Given the description of an element on the screen output the (x, y) to click on. 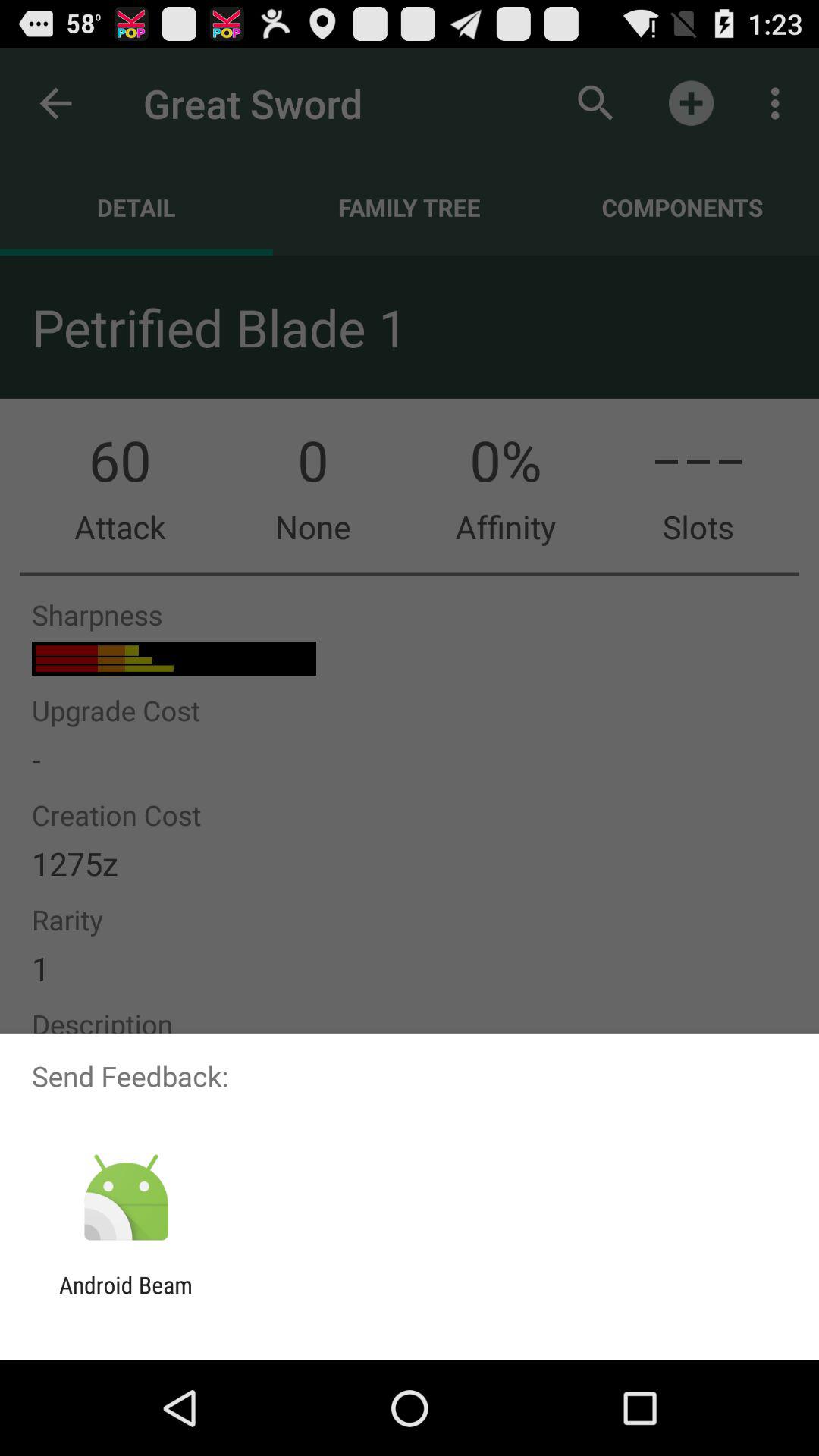
swipe until the android beam (125, 1298)
